Given the description of an element on the screen output the (x, y) to click on. 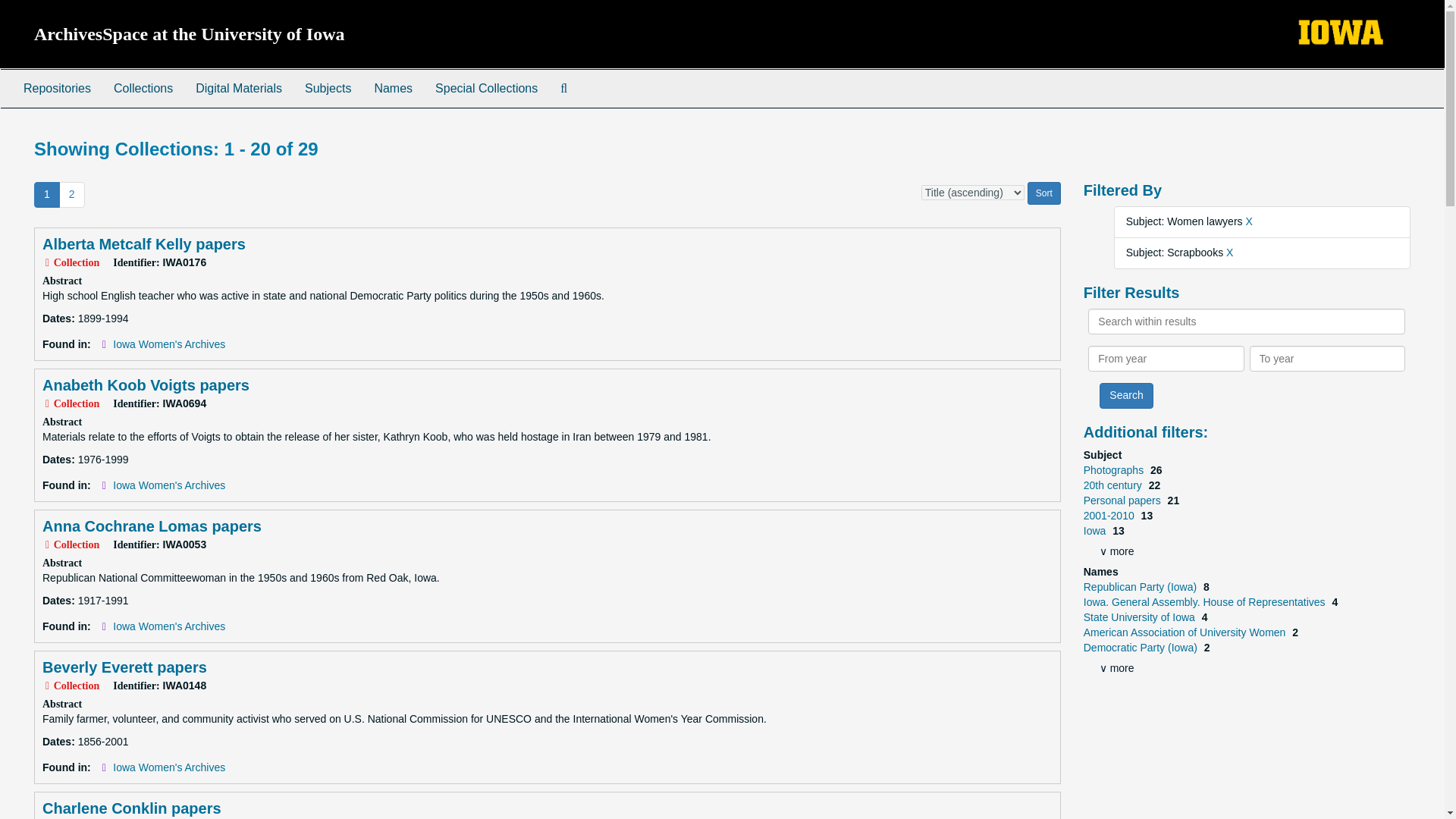
Filter By '20th century' (1113, 485)
Charlene Conklin papers (131, 808)
1 (46, 194)
Filter By '2001-2010' (1110, 515)
Repositories (56, 88)
Filter By 'Photographs' (1115, 469)
Special Collections (485, 88)
Beverly Everett papers (124, 667)
ArchivesSpace at the University of Iowa (189, 34)
Sort (1044, 192)
